Given the description of an element on the screen output the (x, y) to click on. 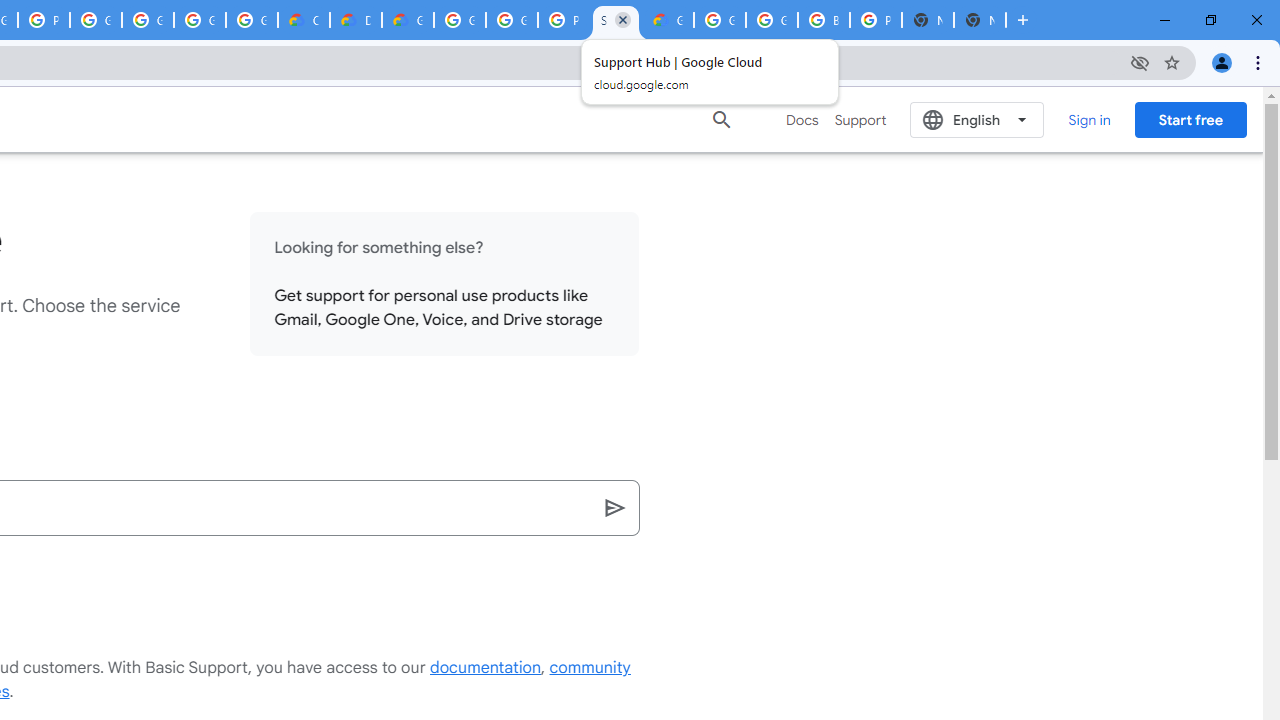
Google Cloud Platform (459, 20)
Google Cloud Service Health (667, 20)
